Given the description of an element on the screen output the (x, y) to click on. 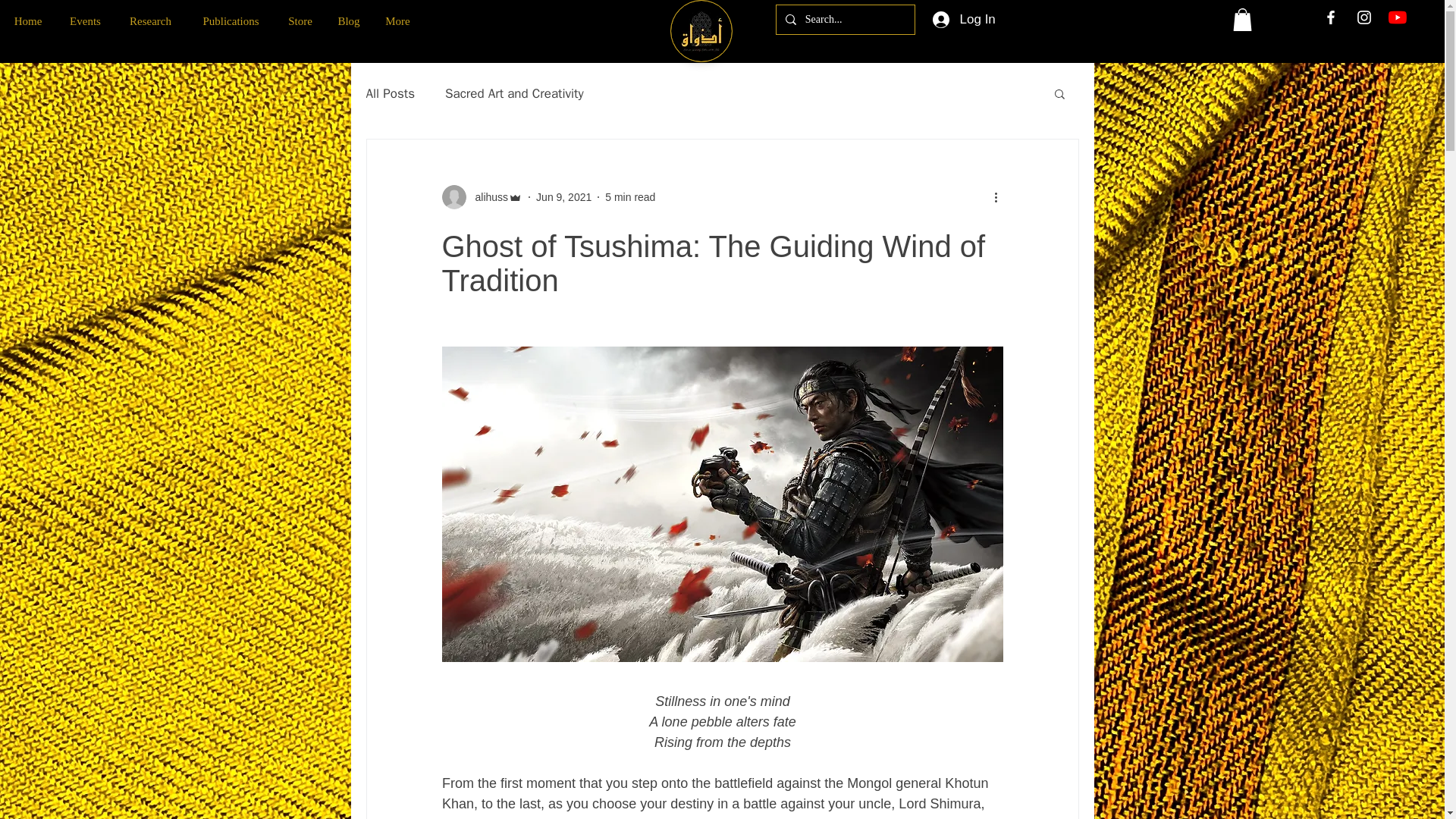
Blog (348, 21)
Store (299, 21)
Publications (230, 21)
Sacred Art and Creativity (514, 93)
Jun 9, 2021 (563, 196)
Events (85, 21)
Research (150, 21)
alihuss (486, 197)
Home (28, 21)
All Posts (389, 93)
alihuss (481, 197)
5 min read (630, 196)
Log In (963, 19)
